Given the description of an element on the screen output the (x, y) to click on. 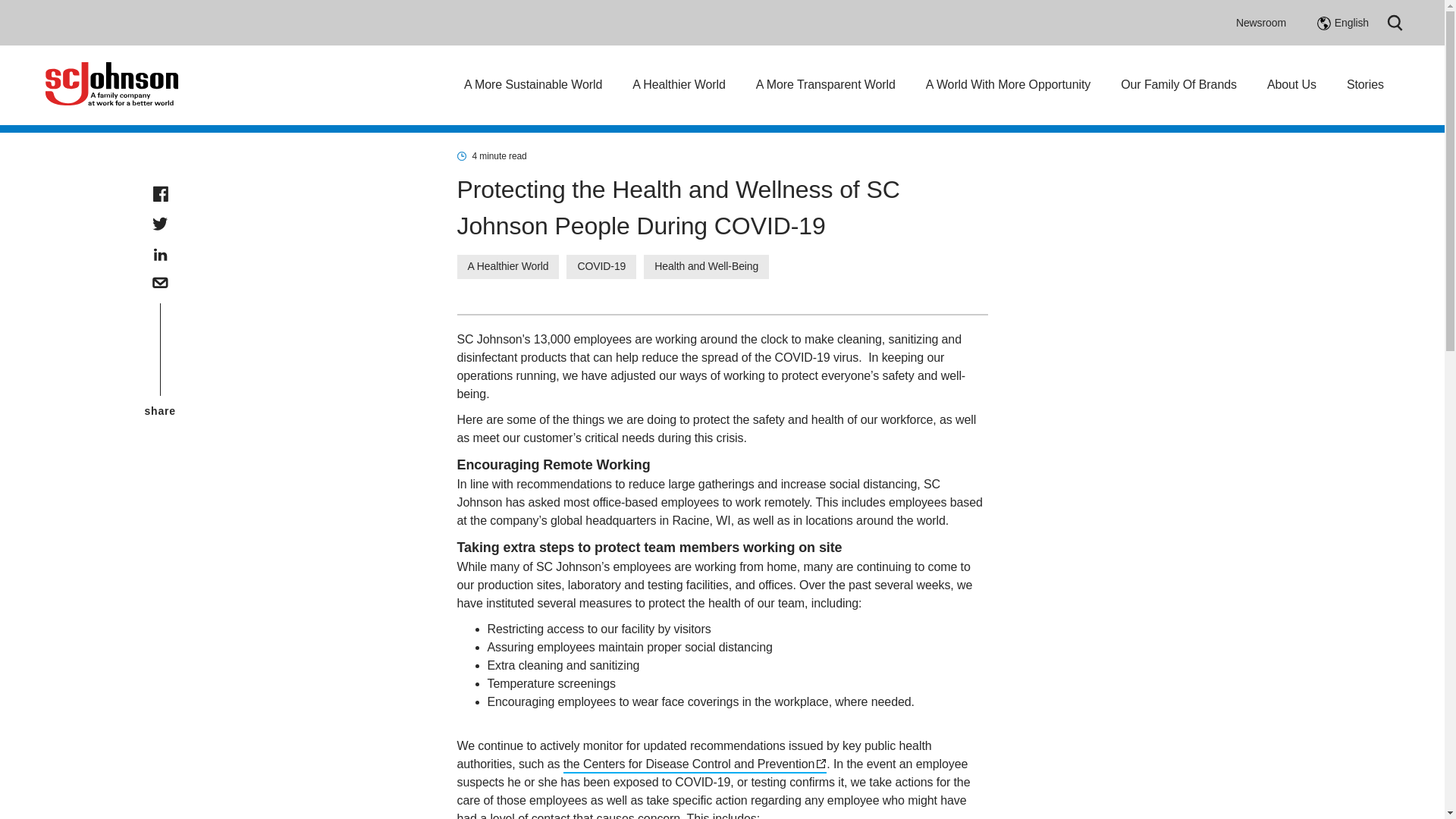
Our Family Of Brands (1178, 84)
Newsroom (1260, 22)
A More Sustainable World (533, 84)
English (1342, 22)
A World With More Opportunity (1008, 84)
A More Transparent World (825, 84)
A Healthier World (678, 84)
